Given the description of an element on the screen output the (x, y) to click on. 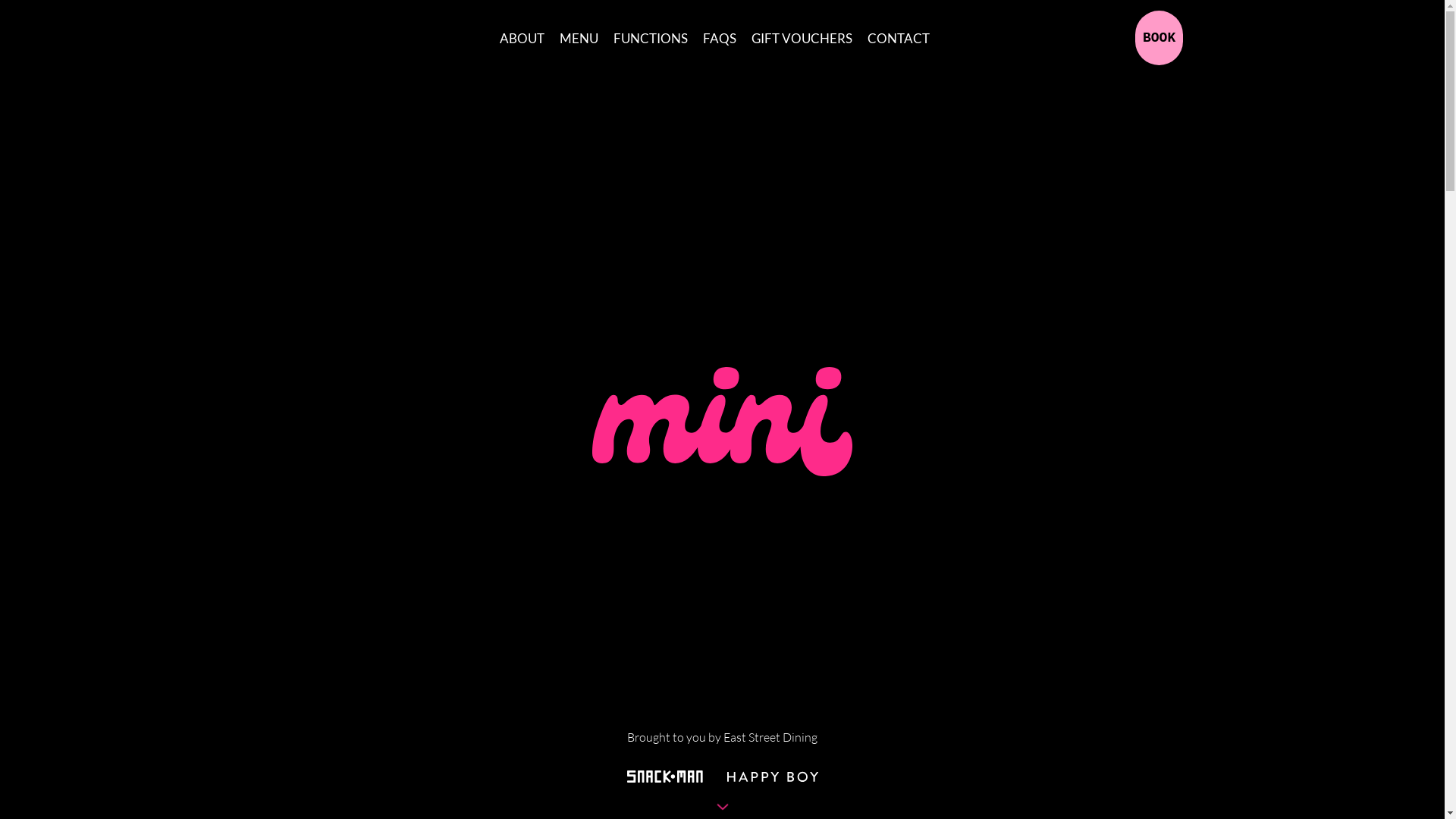
ABOUT Element type: text (521, 39)
CONTACT Element type: text (898, 39)
MENU Element type: text (578, 39)
BOOK Element type: text (1159, 37)
FUNCTIONS Element type: text (650, 39)
GIFT VOUCHERS Element type: text (801, 39)
FAQS Element type: text (719, 39)
